Given the description of an element on the screen output the (x, y) to click on. 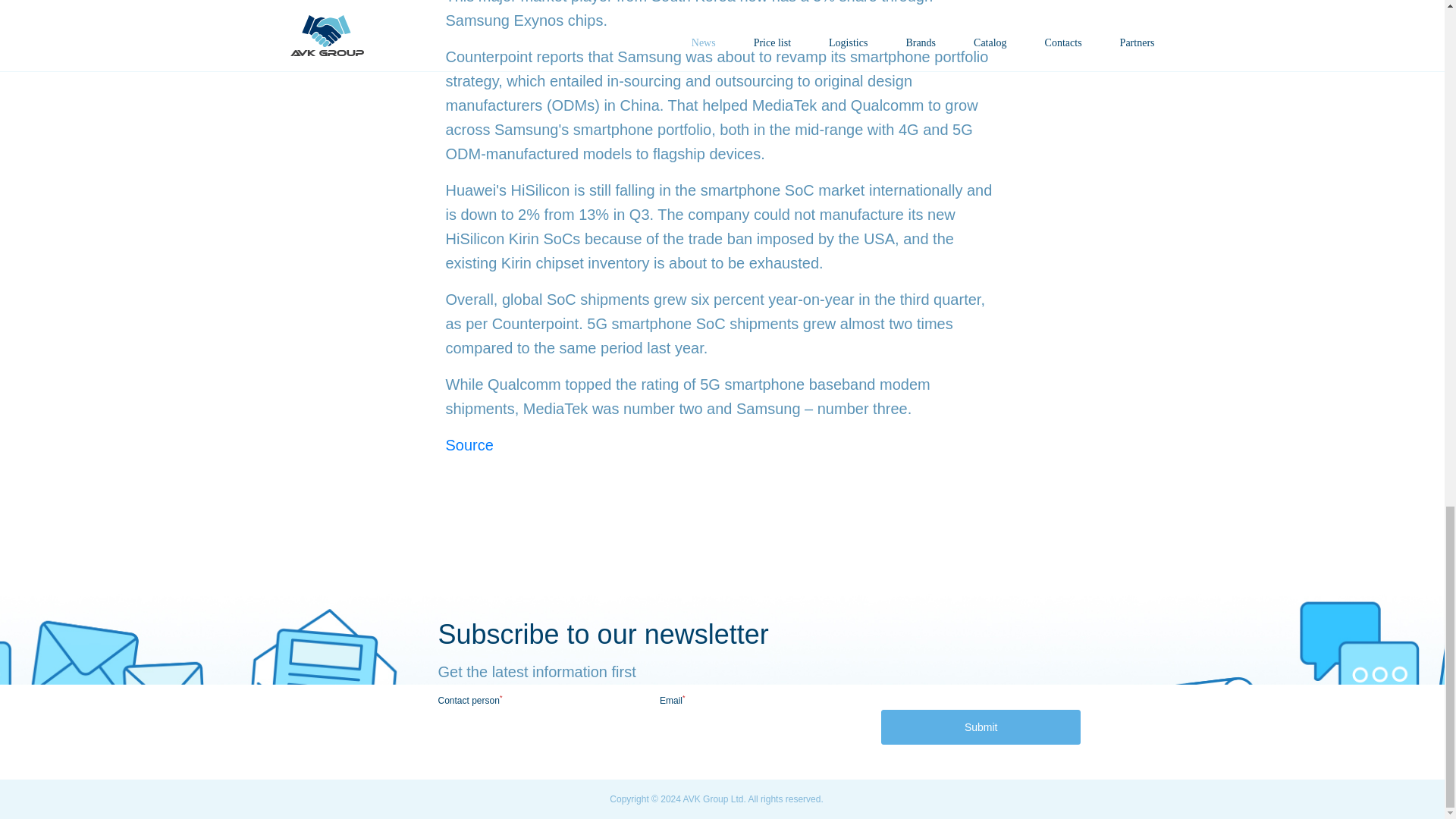
Submit (980, 727)
Submit (980, 727)
Source (469, 444)
